Given the description of an element on the screen output the (x, y) to click on. 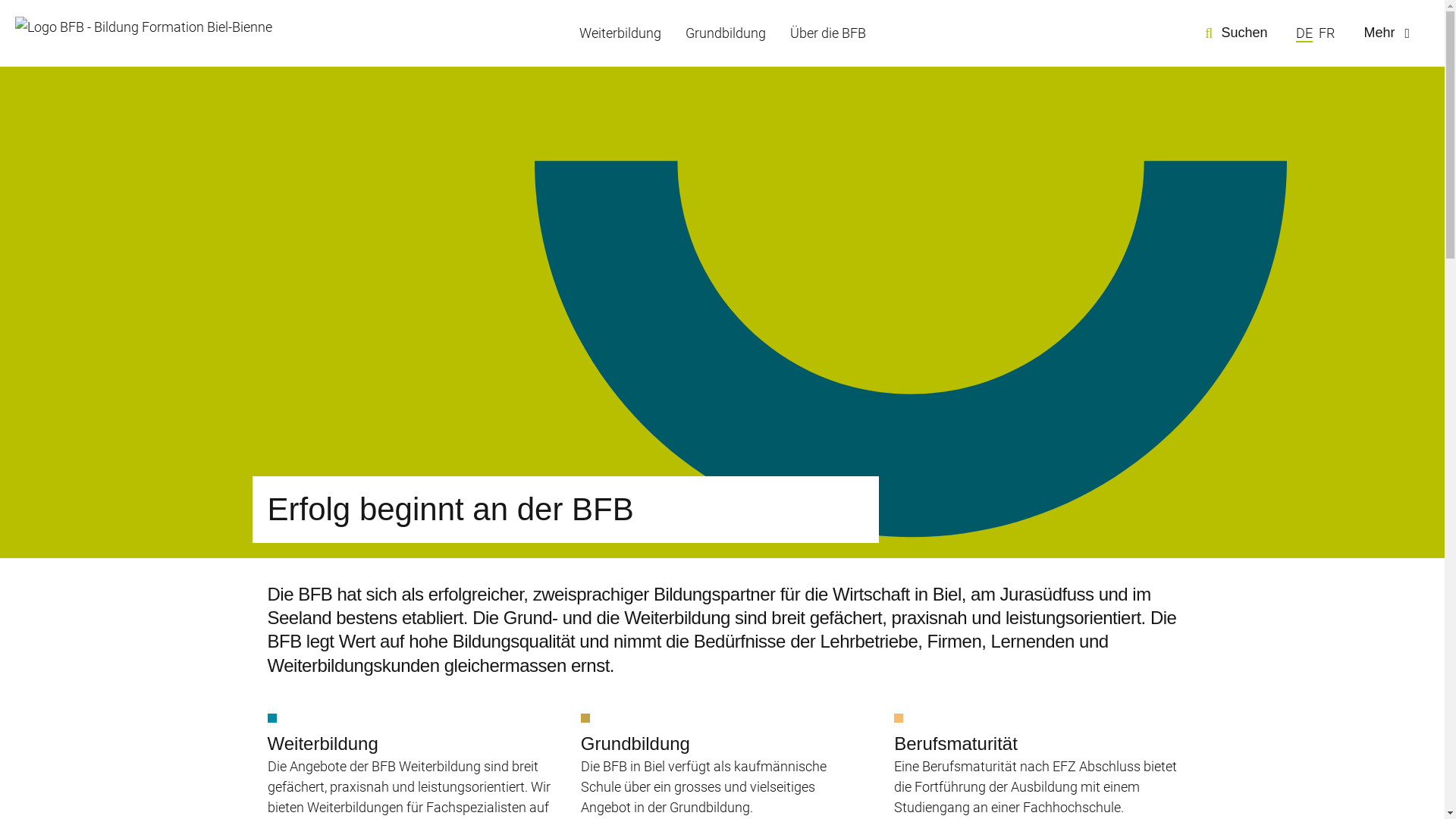
Weiterbildung Element type: text (620, 32)
Grundbildung Element type: text (725, 32)
DE Element type: text (1303, 33)
Suchen Element type: text (1233, 32)
FR Element type: text (1326, 32)
Mehr Element type: text (1389, 32)
